Given the description of an element on the screen output the (x, y) to click on. 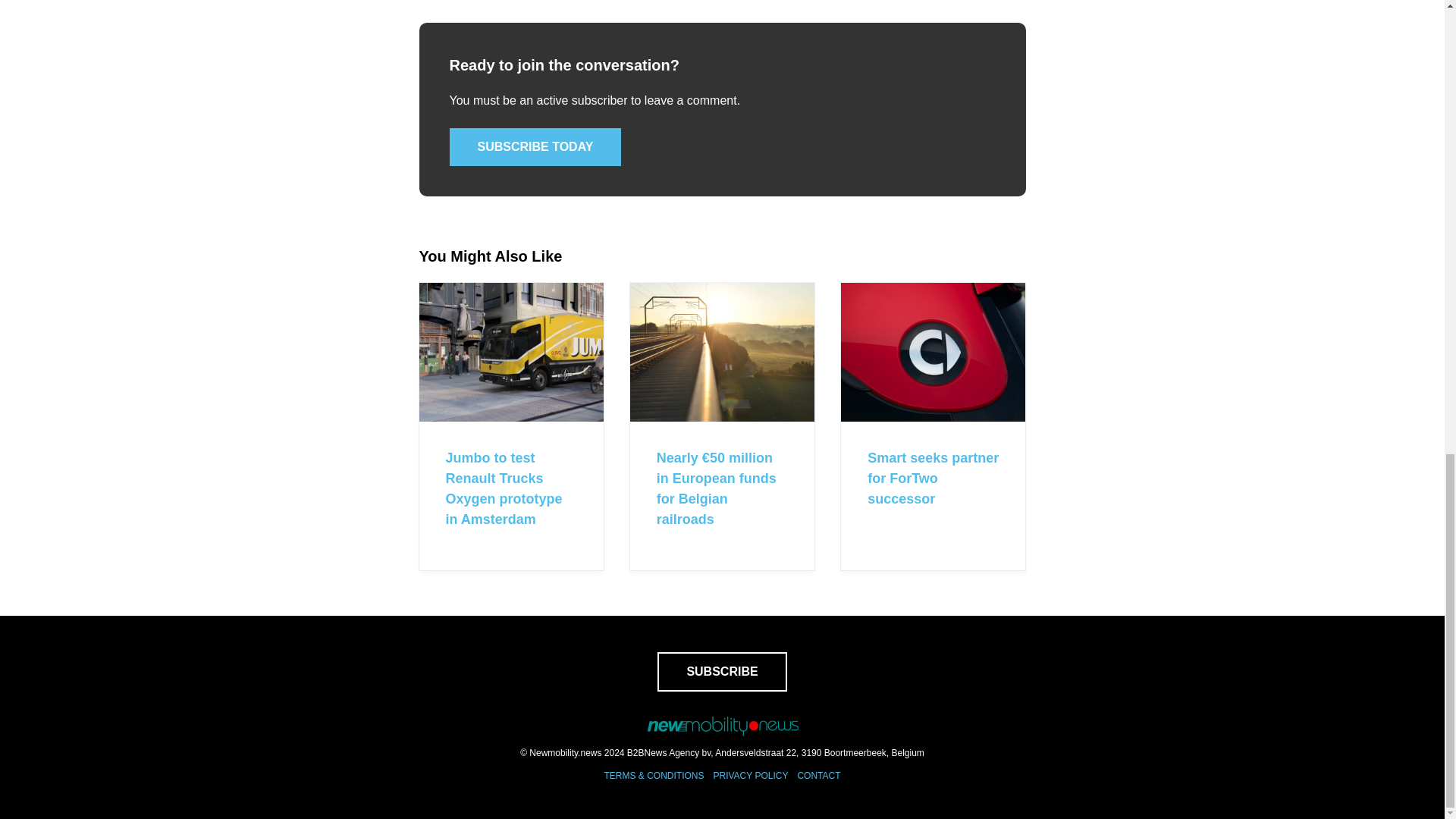
Jumbo to test Renault Trucks Oxygen prototype in Amsterdam (503, 488)
Smart seeks partner for ForTwo successor (932, 478)
SUBSCRIBE (722, 671)
SUBSCRIBE TODAY (534, 146)
PRIVACY POLICY (750, 775)
CONTACT (818, 775)
